Given the description of an element on the screen output the (x, y) to click on. 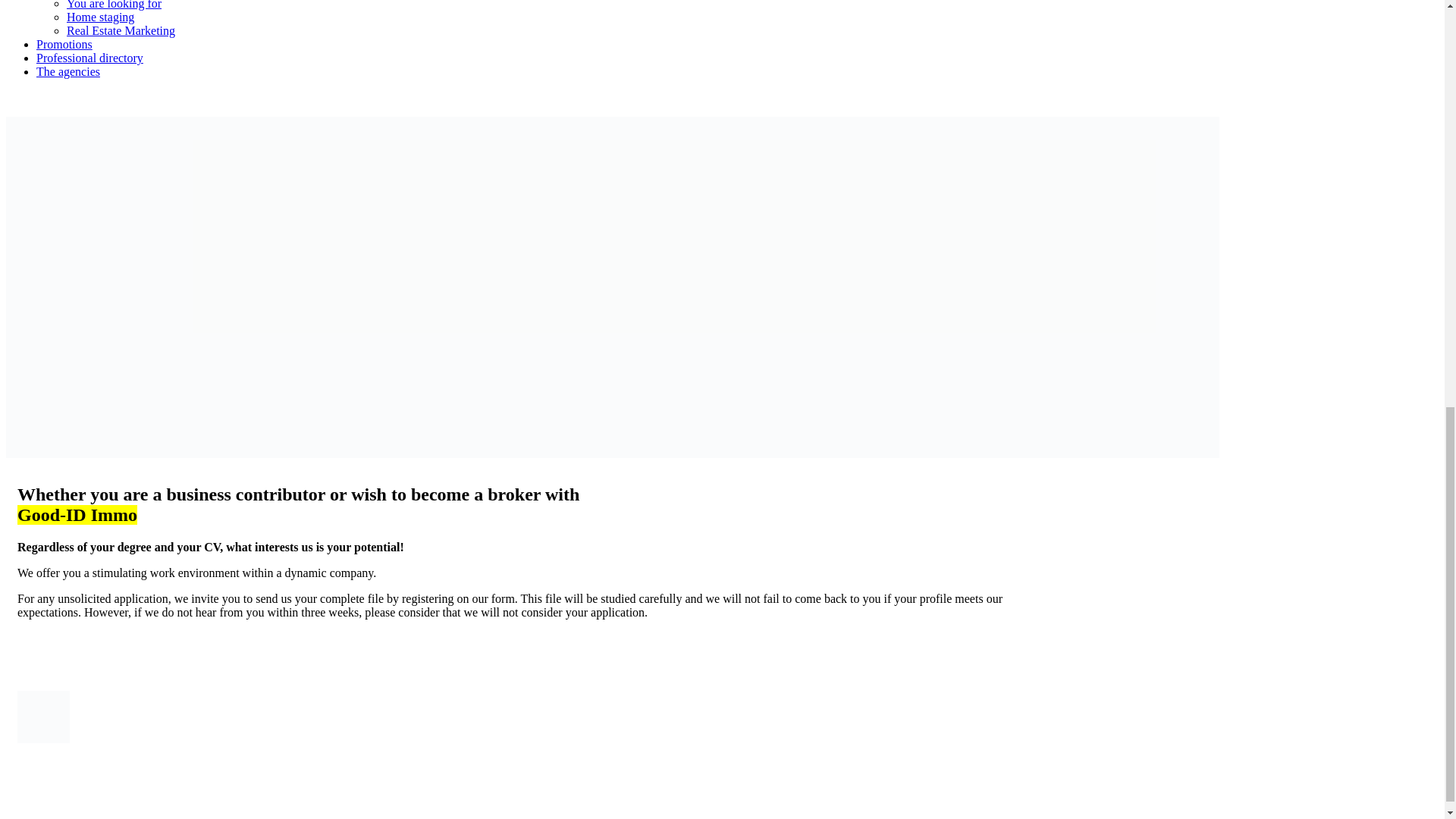
022 548 38 03 (40, 97)
Real Estate Marketing (120, 30)
Home staging (99, 16)
You are looking for (113, 4)
Professional directory (89, 57)
Promotions (64, 43)
The agencies (68, 71)
